Given the description of an element on the screen output the (x, y) to click on. 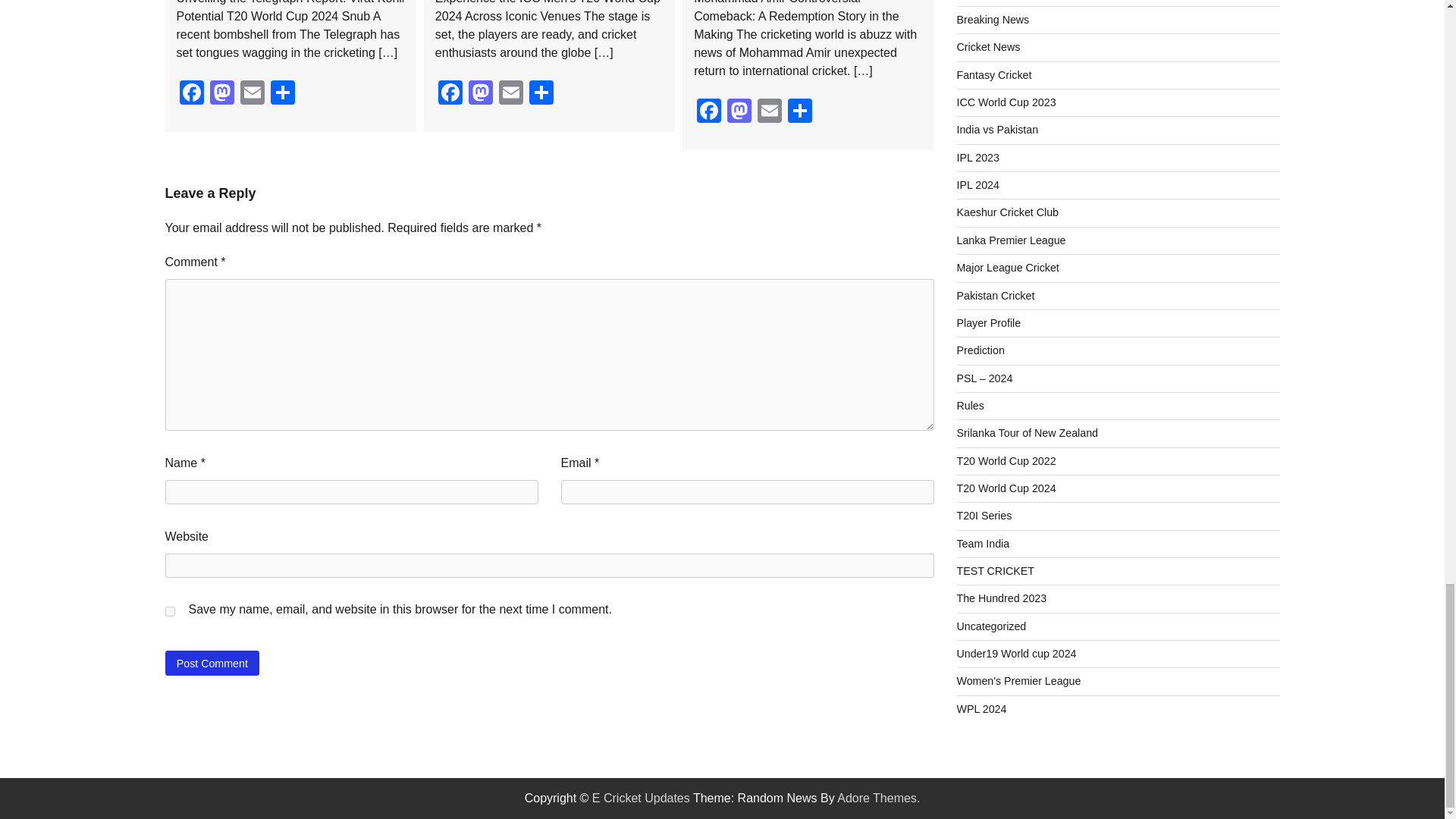
Email (510, 94)
Post Comment (212, 662)
Mastodon (220, 94)
Facebook (191, 94)
Facebook (450, 94)
Facebook (708, 112)
Email (250, 94)
Mastodon (480, 94)
yes (169, 611)
